Given the description of an element on the screen output the (x, y) to click on. 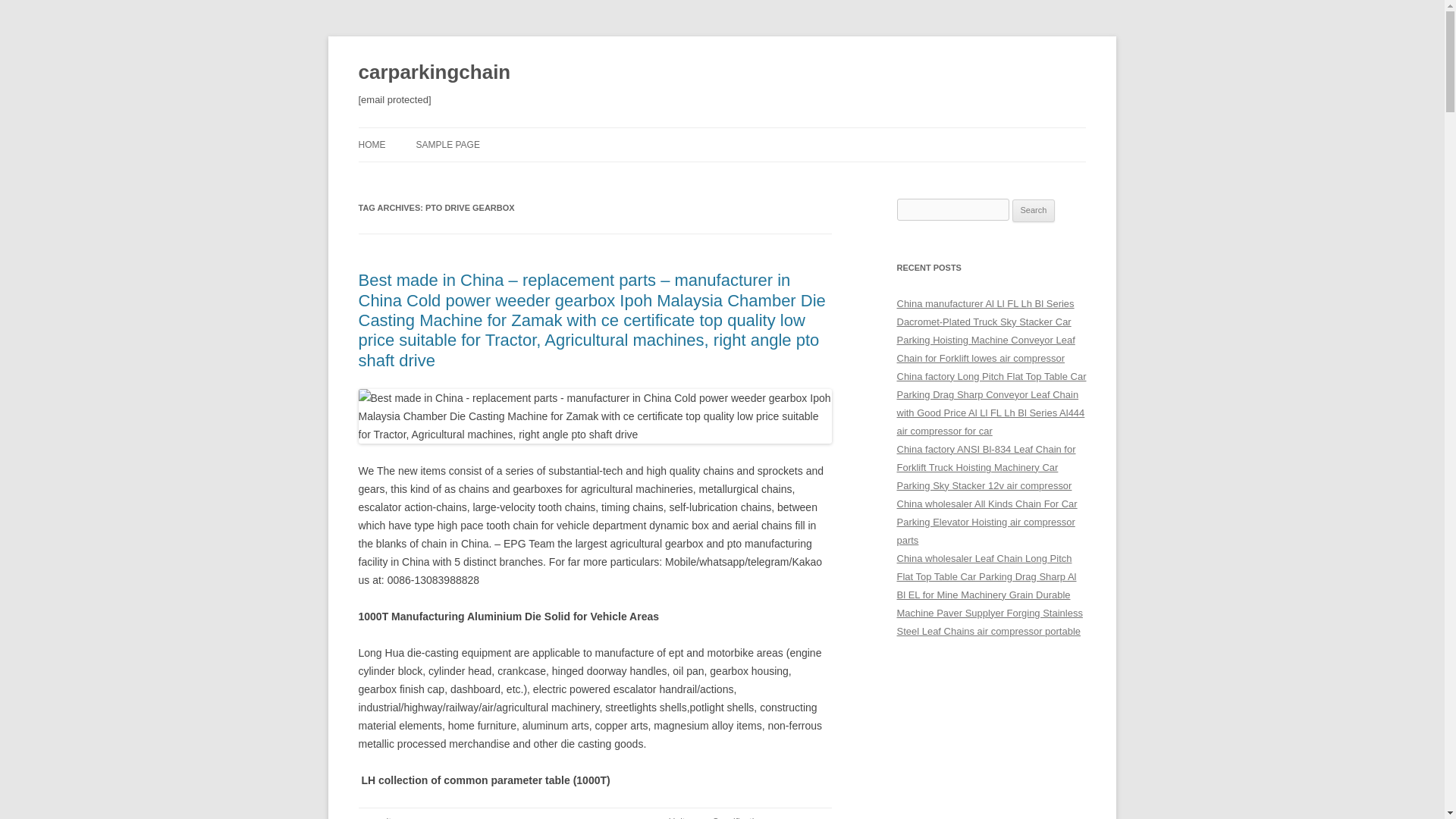
SAMPLE PAGE (446, 144)
carparkingchain (434, 72)
HOME (371, 144)
Search (1033, 210)
carparkingchain (434, 72)
